Given the description of an element on the screen output the (x, y) to click on. 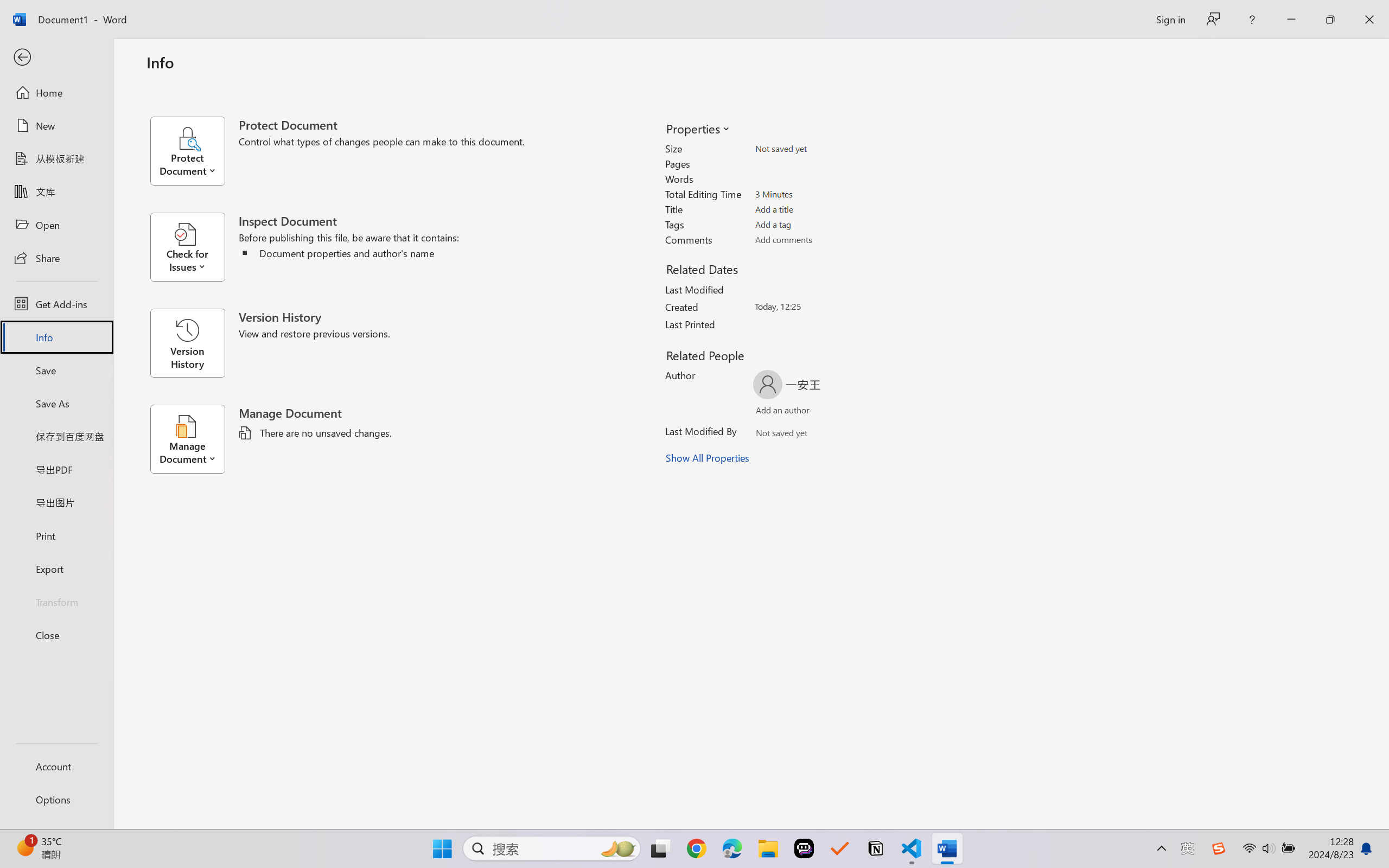
Show All Properties (707, 457)
Verify Names (802, 434)
Total Editing Time (818, 193)
New (56, 125)
Protect Document (194, 150)
Check for Issues (194, 246)
Info (56, 337)
Account (56, 765)
